Given the description of an element on the screen output the (x, y) to click on. 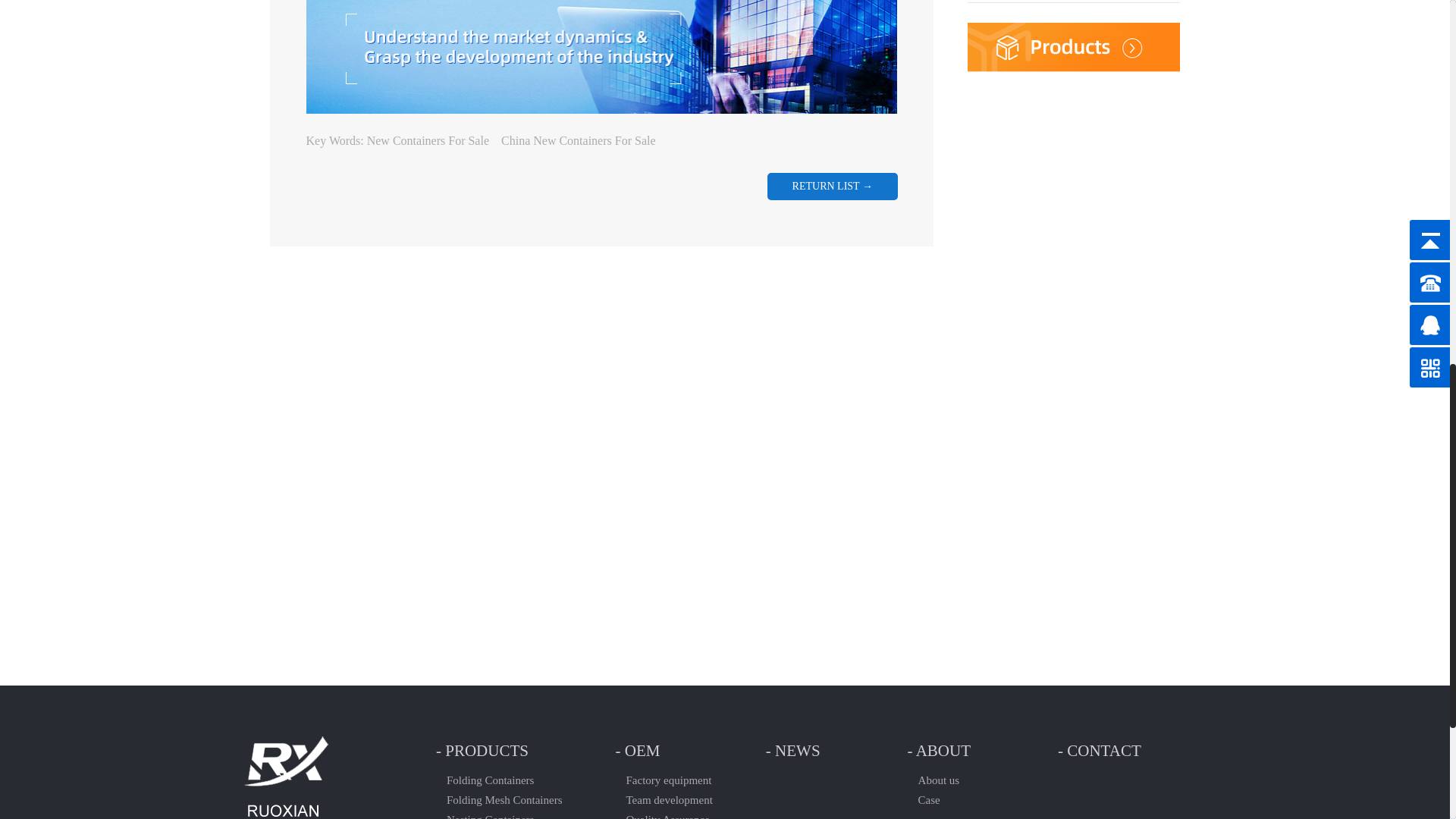
new containers for sale (427, 140)
New Containers For Sale (427, 140)
China new containers for sale (578, 140)
